Given the description of an element on the screen output the (x, y) to click on. 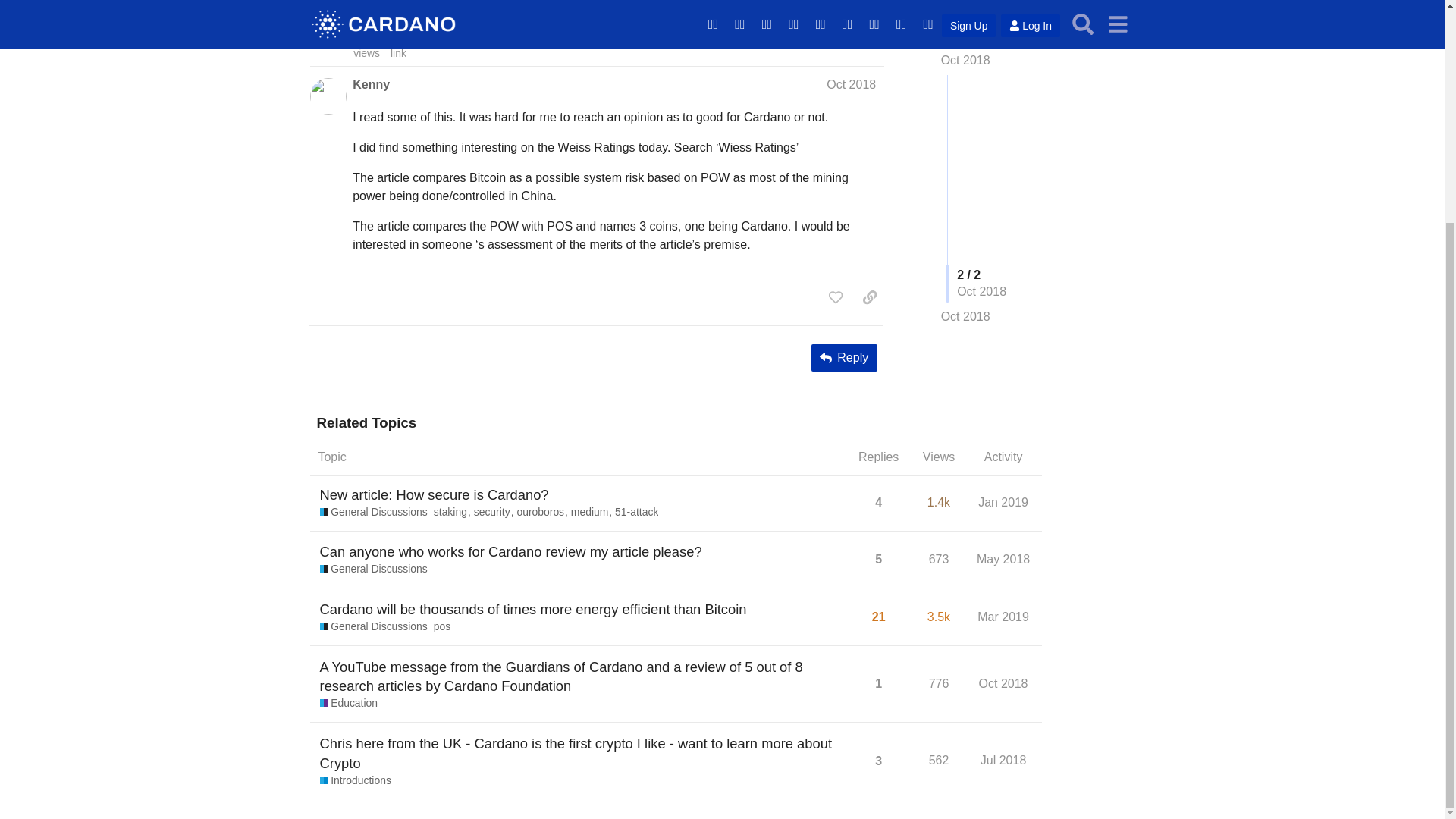
Jump to the last post (965, 87)
Oct 2018 (851, 83)
General Discussions (366, 44)
staking (374, 512)
New article: How secure is Cardano? (453, 512)
Oct 2018 (434, 494)
Kenny (965, 87)
security (371, 84)
2 (495, 512)
